Given the description of an element on the screen output the (x, y) to click on. 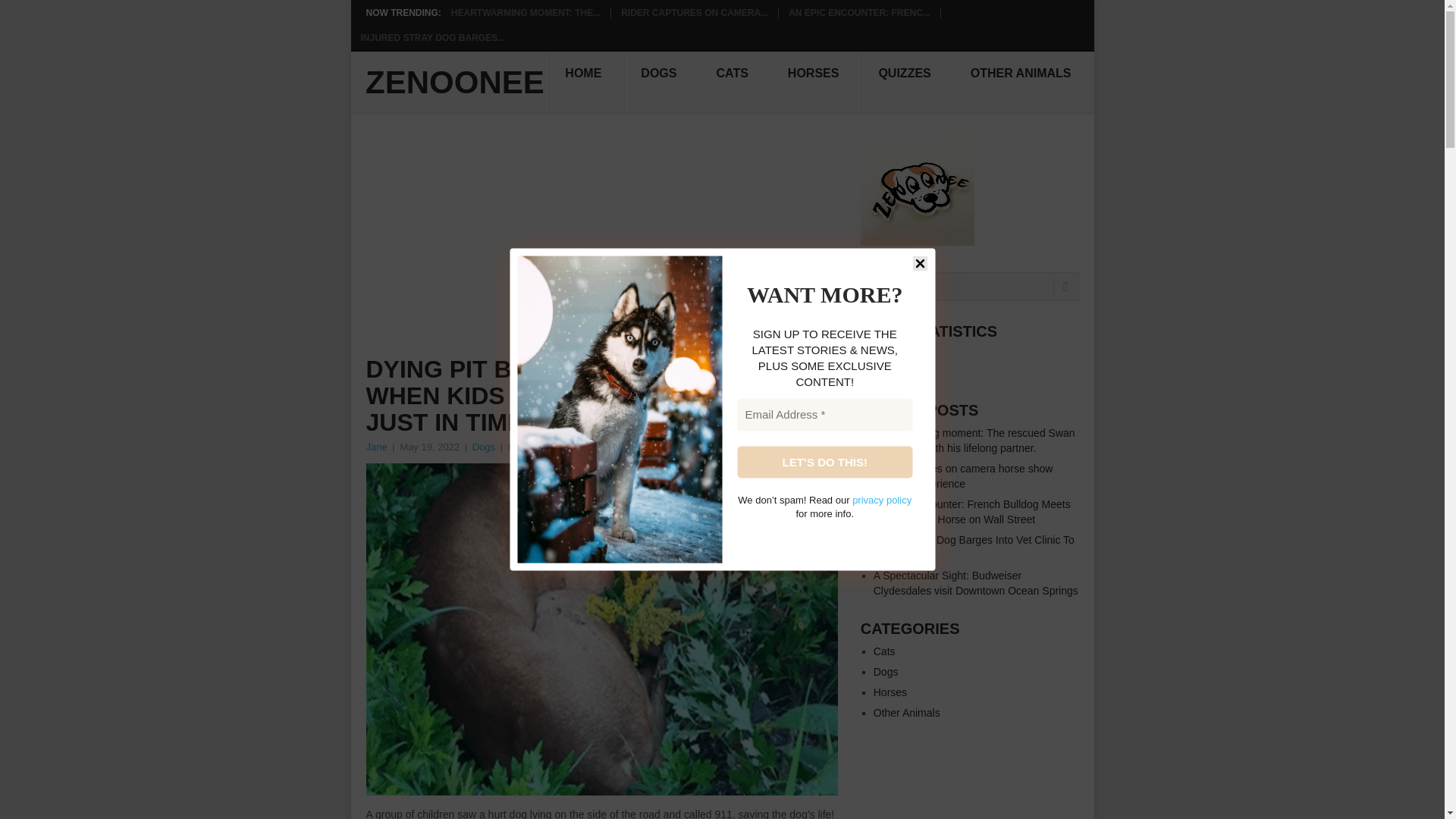
INJURED STRAY DOG BARGES... (433, 37)
Dogs (885, 671)
DOGS (662, 82)
Other Animals (906, 712)
privacy policy (881, 500)
QUIZZES (907, 82)
Jane (376, 446)
No Comments (539, 446)
HOME (586, 82)
Search the site (969, 286)
Advertisement (602, 244)
